Given the description of an element on the screen output the (x, y) to click on. 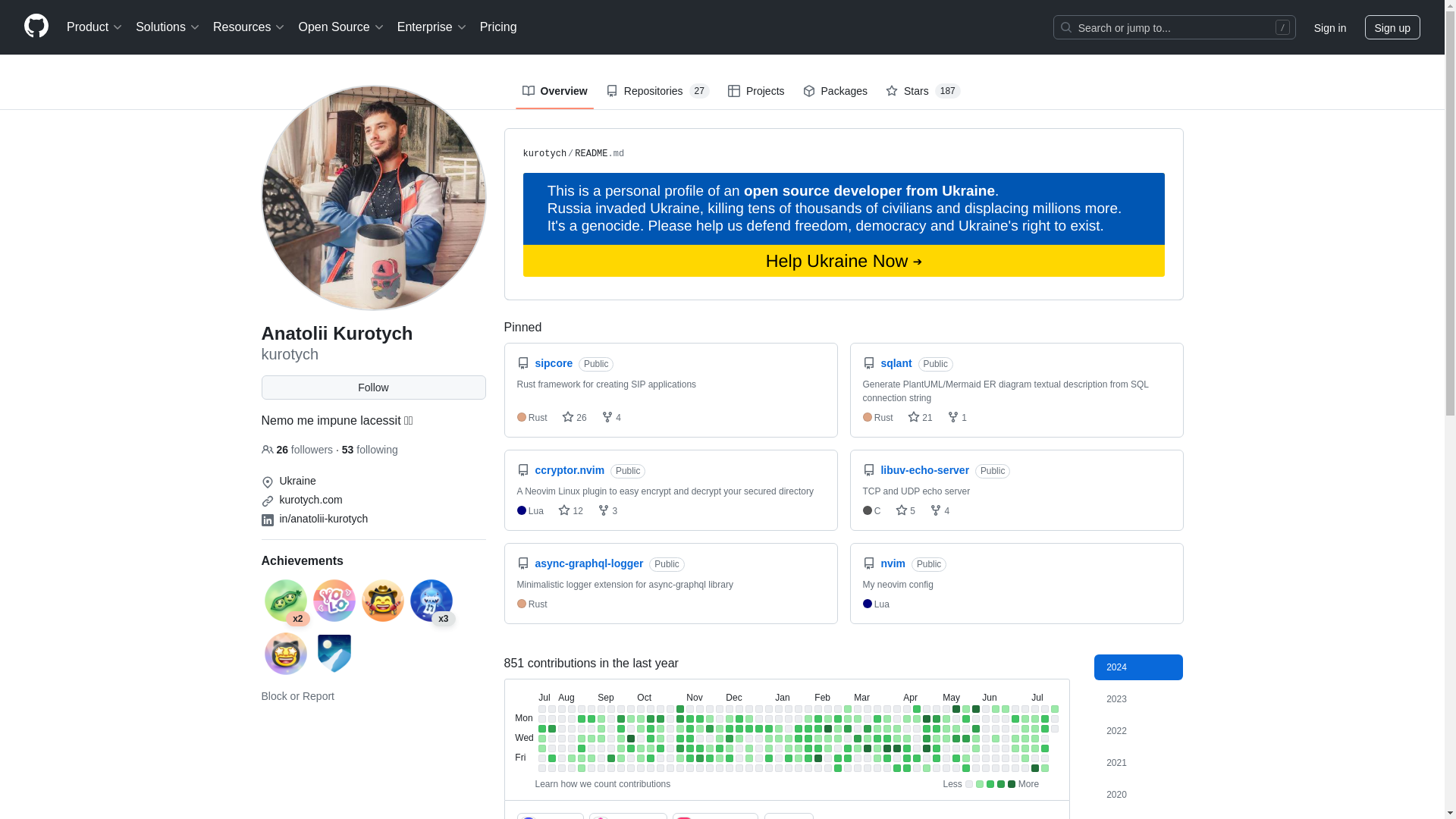
Open Source (341, 27)
LinkedIn (266, 520)
Resources (249, 27)
Product (95, 27)
27 (699, 90)
Solutions (167, 27)
187 (947, 90)
